Given the description of an element on the screen output the (x, y) to click on. 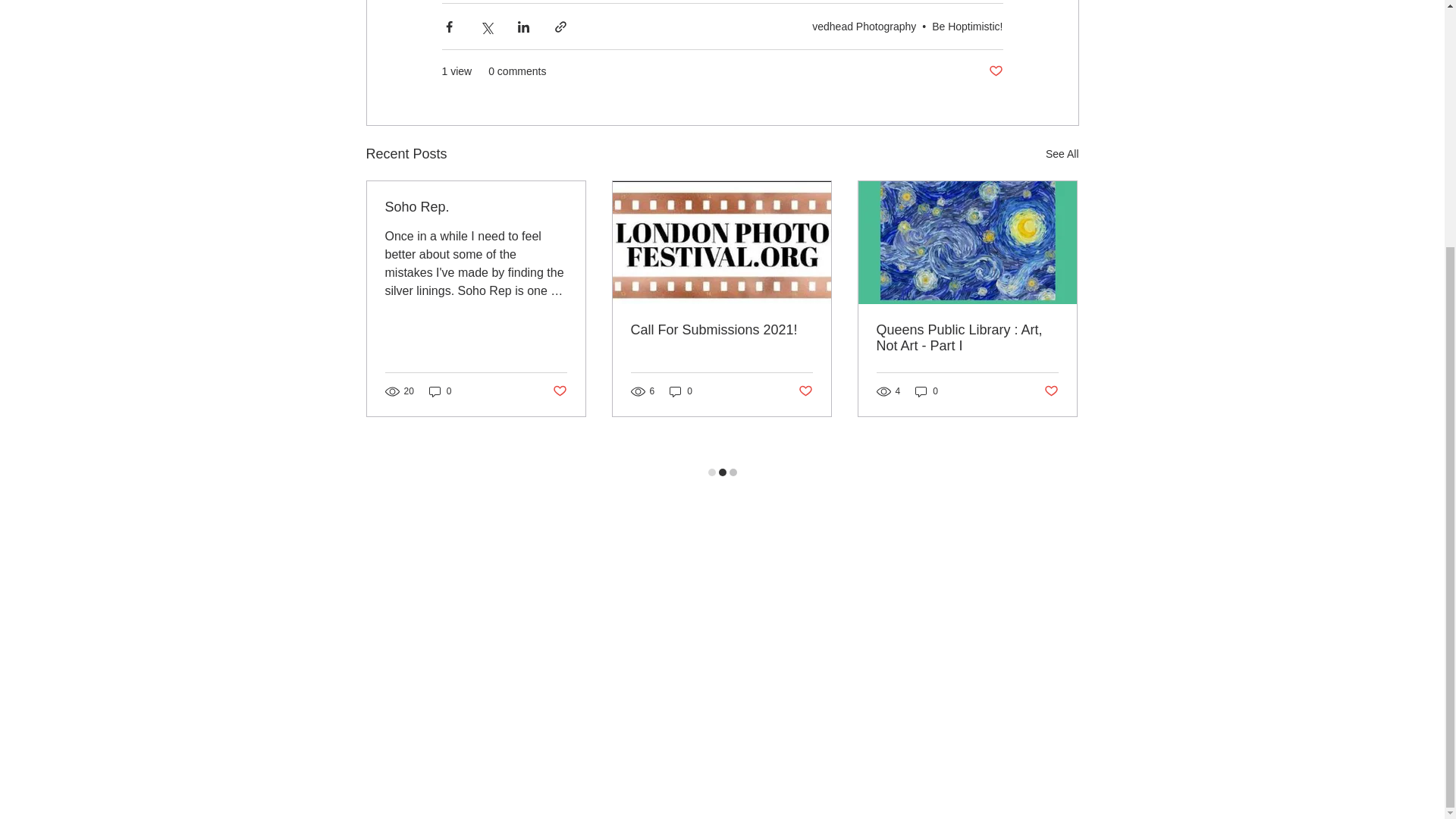
Soho Rep. (476, 207)
Post not marked as liked (995, 71)
0 (440, 391)
vedhead Photography (863, 25)
See All (1061, 154)
Post not marked as liked (1050, 391)
0 (681, 391)
Be Hoptimistic! (967, 25)
0 (926, 391)
Queens Public Library : Art, Not Art - Part I (967, 337)
